Given the description of an element on the screen output the (x, y) to click on. 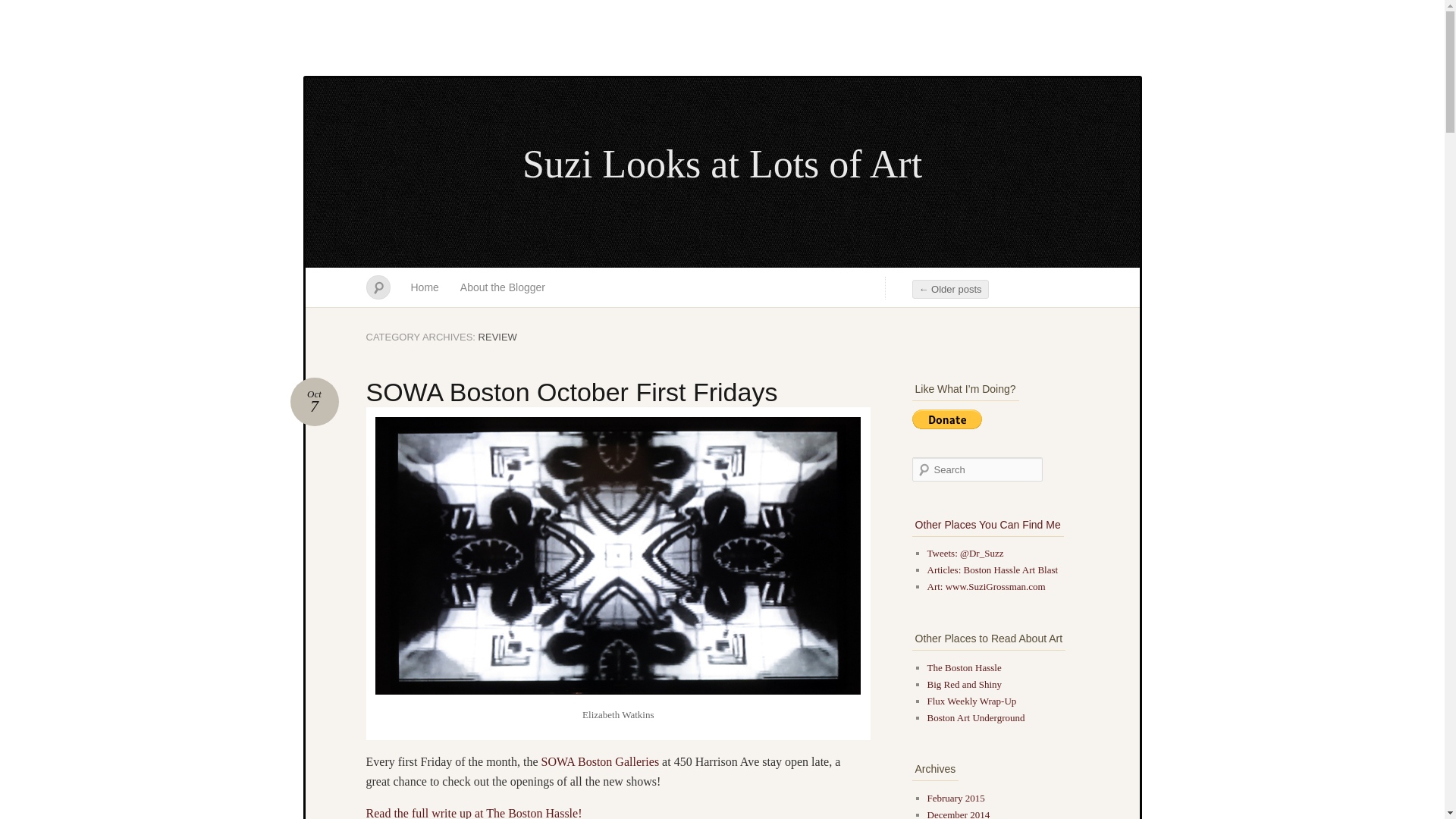
About the Blogger (502, 287)
October 7 2014 (313, 401)
SOWA Boston Galleries (600, 761)
Suzi Looks at Lots of Art (313, 401)
Home (721, 165)
SOWA Boston October First Fridays (424, 287)
Permalink to SOWA Boston October First Fridays (571, 391)
Search (571, 391)
Suzi Looks at Lots of Art (21, 7)
Read the full write up at The Boston Hassle! (721, 165)
